Given the description of an element on the screen output the (x, y) to click on. 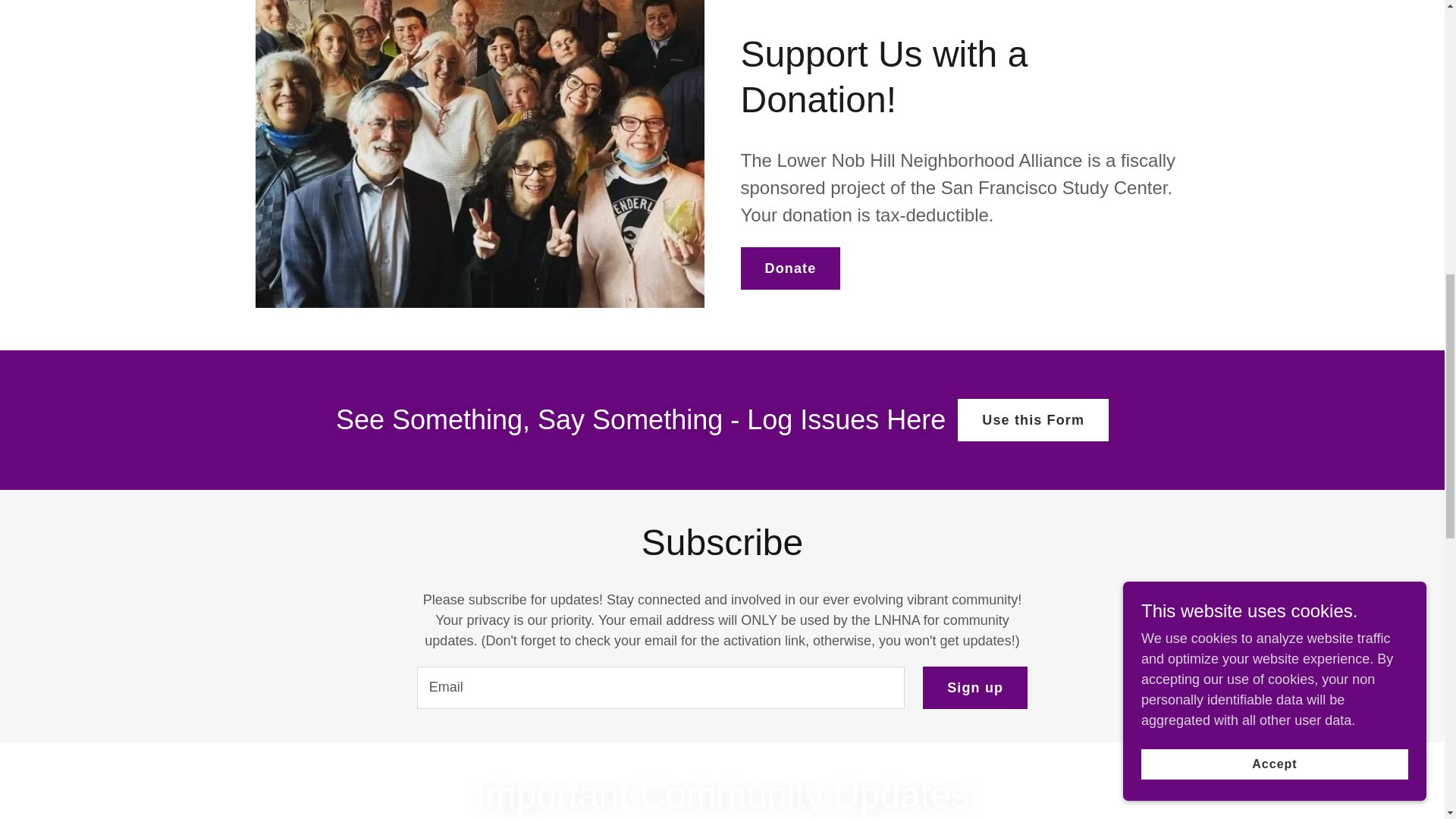
Use this Form (1033, 419)
Donate (789, 268)
